Given the description of an element on the screen output the (x, y) to click on. 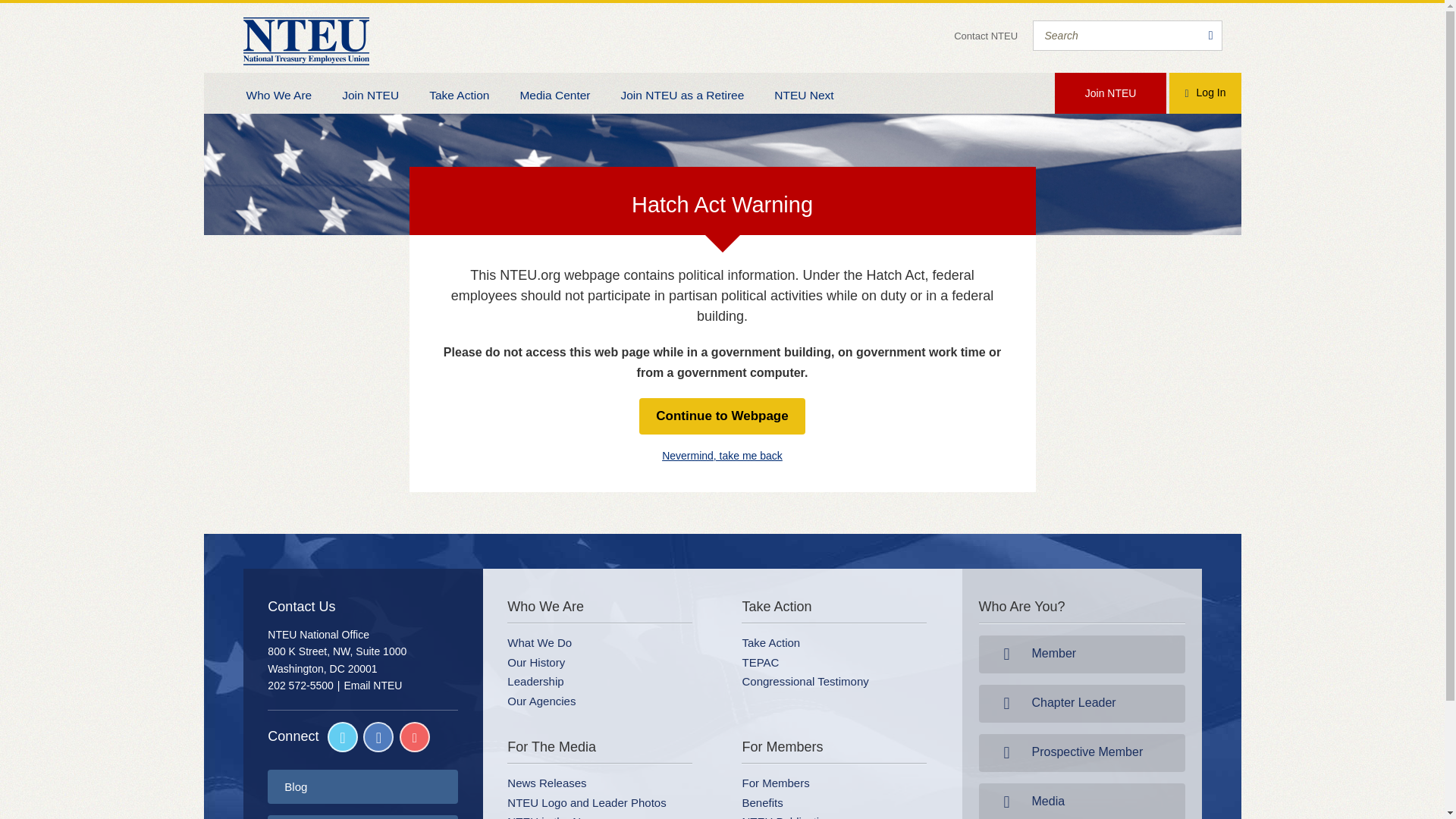
Log In (1204, 92)
NTEU on Facebook (377, 736)
Contact NTEU (985, 35)
Email NTEU (372, 685)
Who We Are (278, 92)
NTEU news on Twitter (342, 736)
Nevermind, take me back (722, 455)
Continue to Webpage (722, 416)
Join NTEU (370, 92)
Media Center (554, 92)
